Given the description of an element on the screen output the (x, y) to click on. 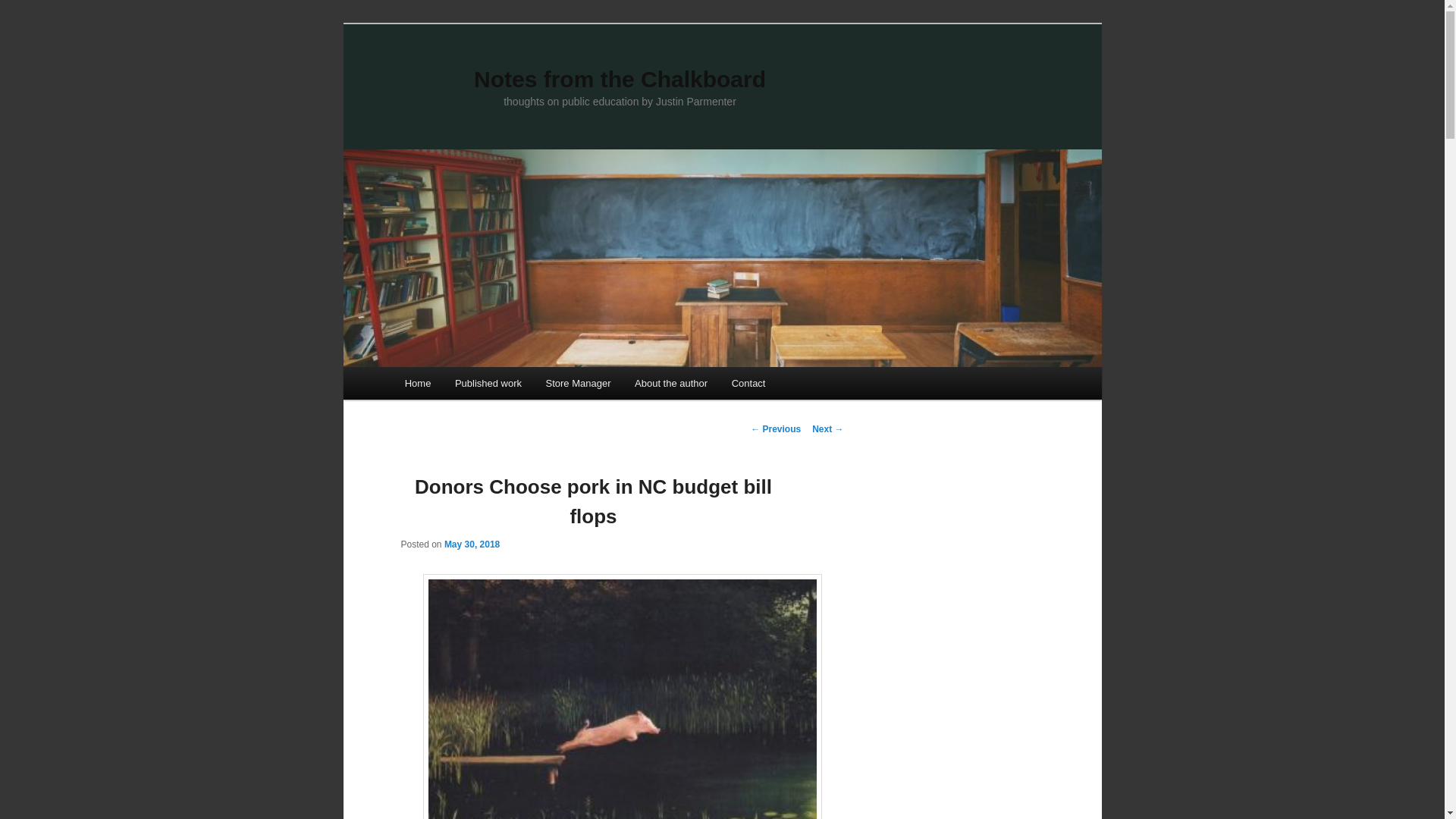
May 30, 2018 (471, 543)
Notes from the Chalkboard (619, 78)
About the author (671, 382)
Published work (488, 382)
Search (21, 11)
Store Manager (578, 382)
Home (417, 382)
Contact (748, 382)
7:55 pm (471, 543)
